Given the description of an element on the screen output the (x, y) to click on. 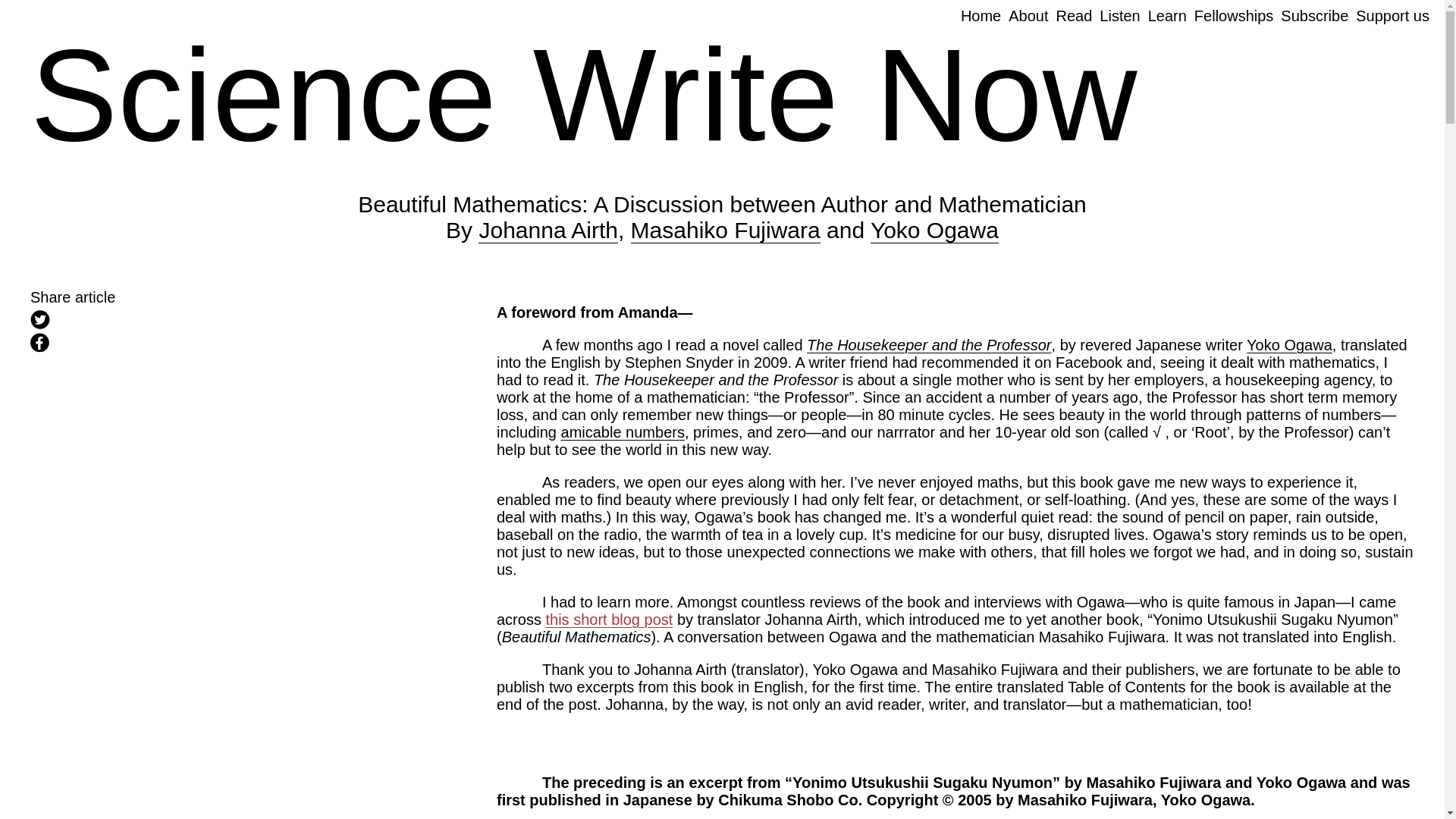
Fellowships (1232, 15)
Learn (1167, 15)
this short blog post (608, 619)
Masahiko Fujiwara (725, 230)
Tweet this (166, 321)
About (1028, 15)
Read (1073, 15)
Share on Facebook (166, 344)
Subscribe (1314, 15)
The Housekeeper and the Professor (928, 344)
Listen (1119, 15)
Home (980, 15)
Yoko Ogawa (934, 230)
Johanna Airth (548, 230)
Support us (1392, 15)
